Given the description of an element on the screen output the (x, y) to click on. 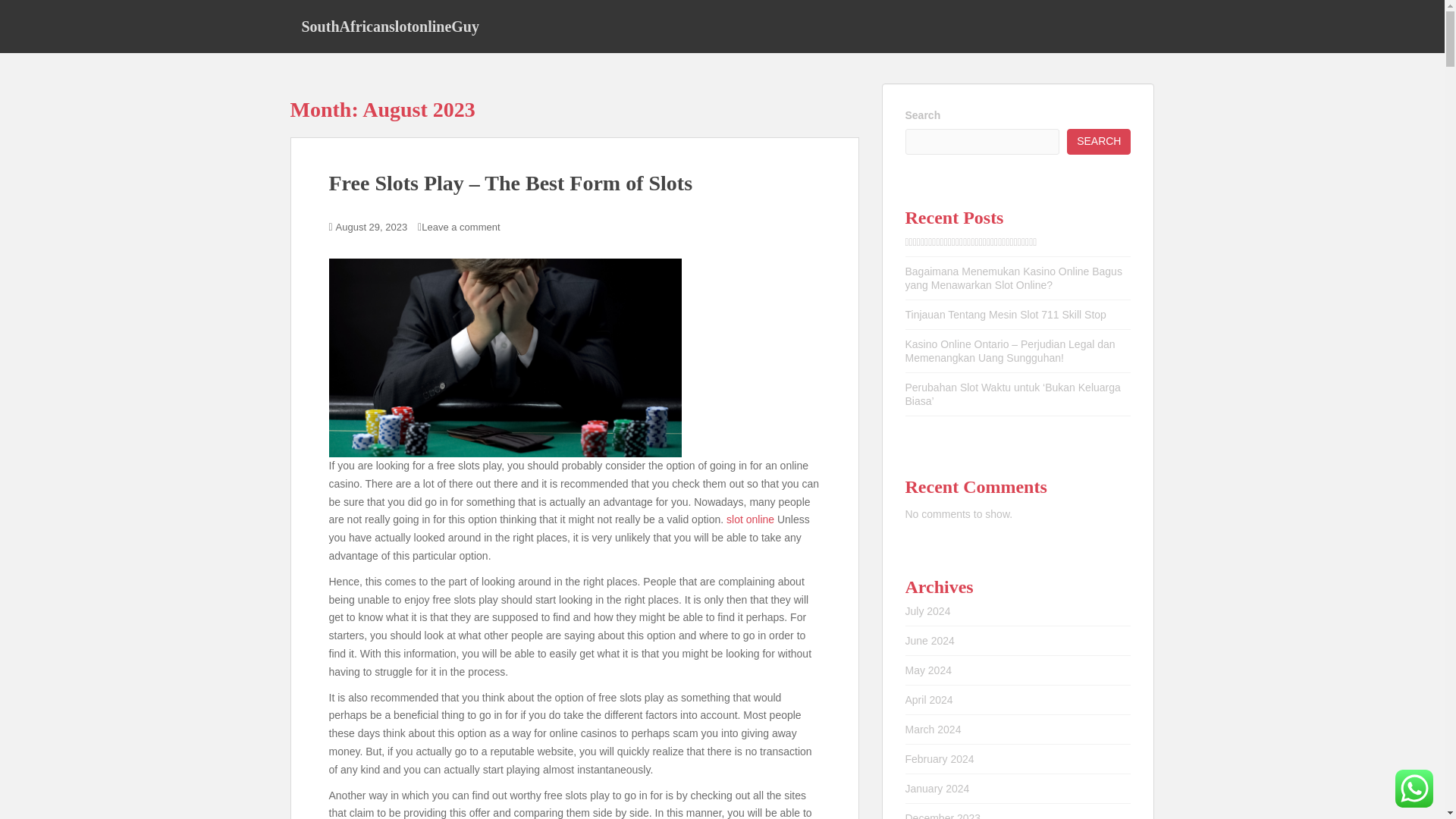
August 29, 2023 (371, 226)
SouthAfricanslotonlineGuy (389, 26)
Leave a comment (460, 226)
Tinjauan Tentang Mesin Slot 711 Skill Stop (1005, 314)
SouthAfricanslotonlineGuy (389, 26)
slot online (750, 519)
SEARCH (1099, 141)
July 2024 (927, 611)
